Given the description of an element on the screen output the (x, y) to click on. 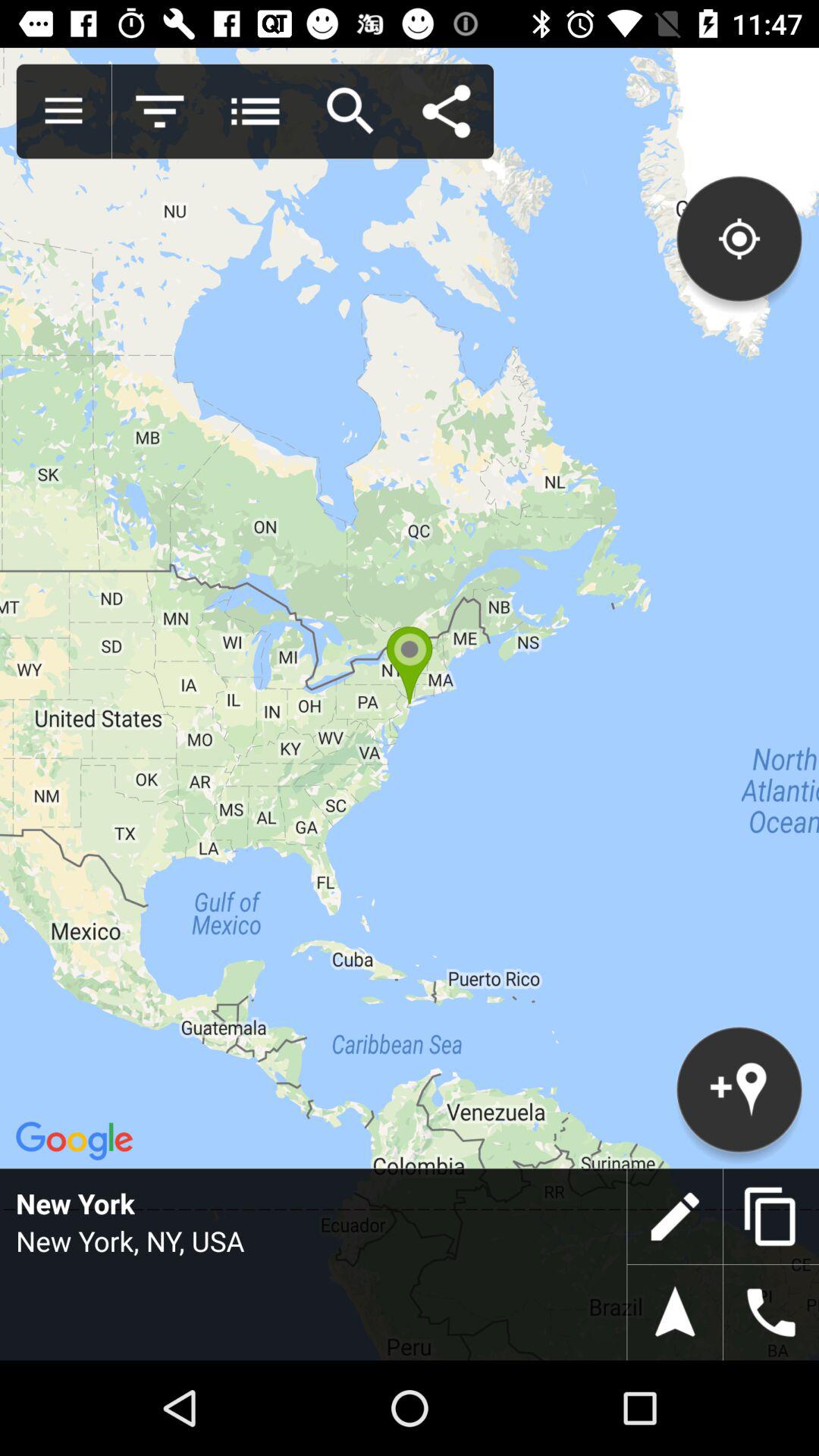
show all menu (63, 111)
